Given the description of an element on the screen output the (x, y) to click on. 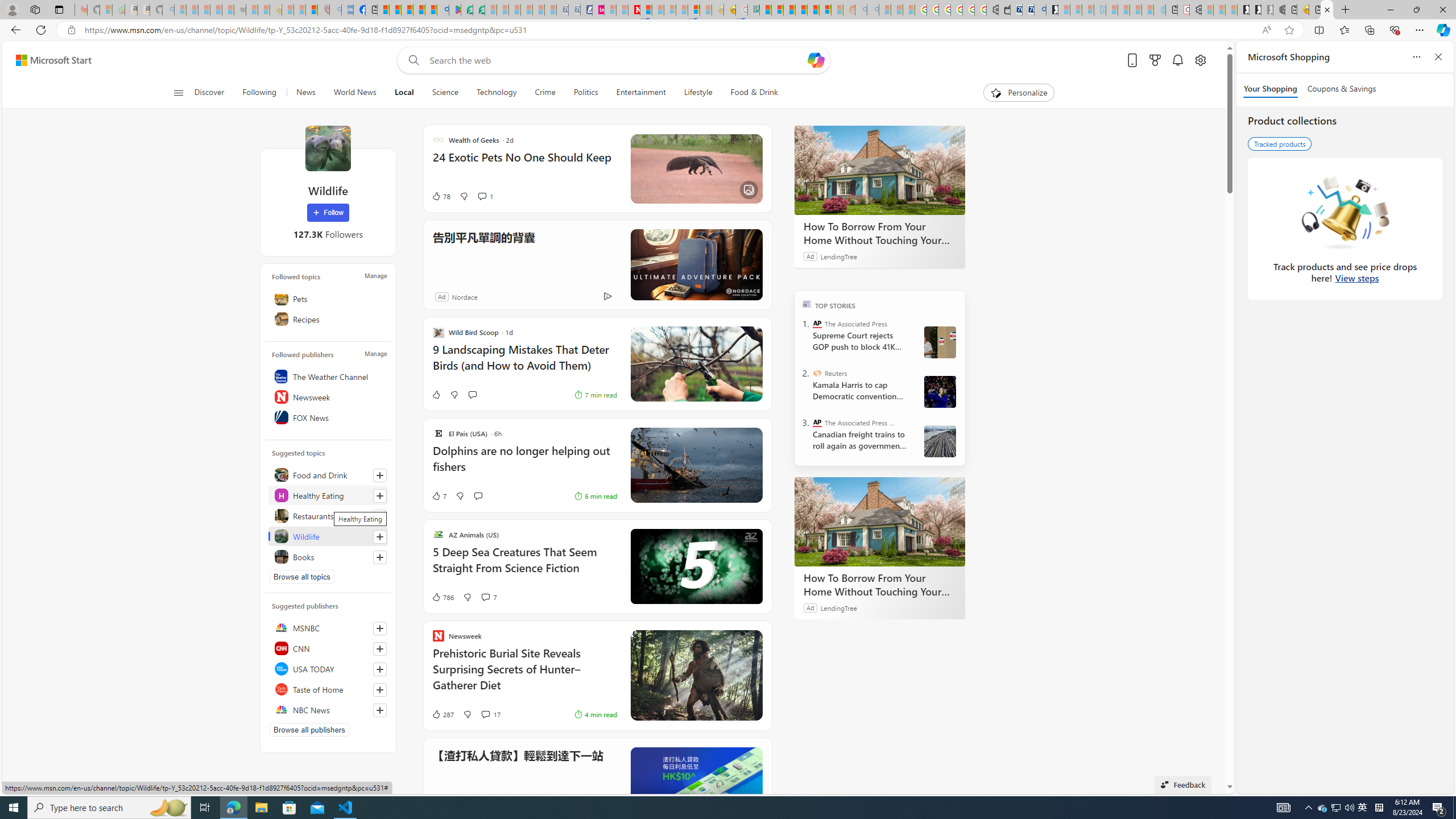
New Report Confirms 2023 Was Record Hot | Watch - Sleeping (227, 9)
View comments 1 Comment (481, 196)
Recipes (327, 318)
MSNBC (327, 627)
